Given the description of an element on the screen output the (x, y) to click on. 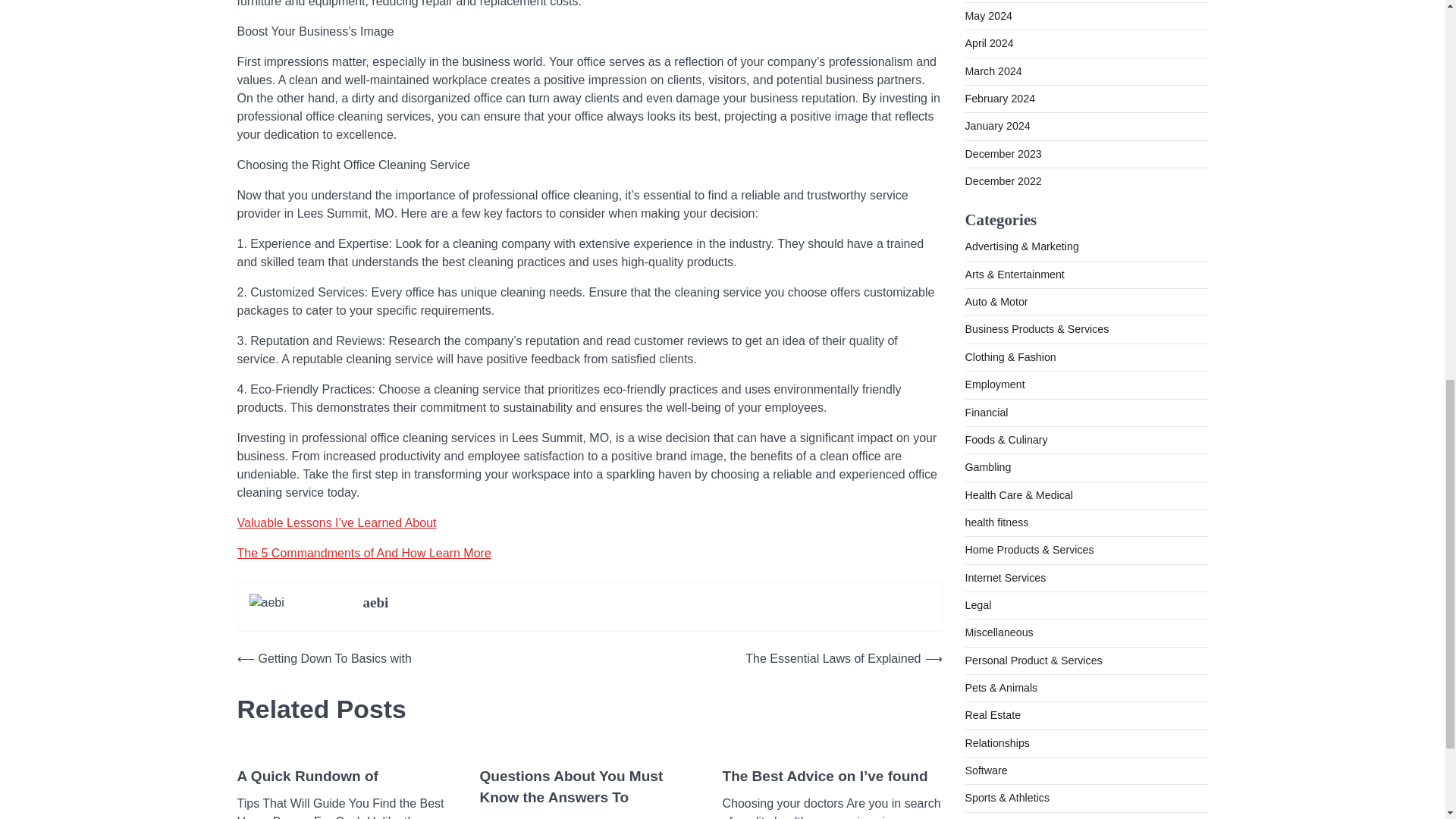
Questions About You Must Know the Answers To (588, 787)
Employment (994, 133)
Gambling (986, 216)
The 5 Commandments of And How Learn More (362, 553)
Financial (985, 162)
A Quick Rundown of (306, 776)
